Given the description of an element on the screen output the (x, y) to click on. 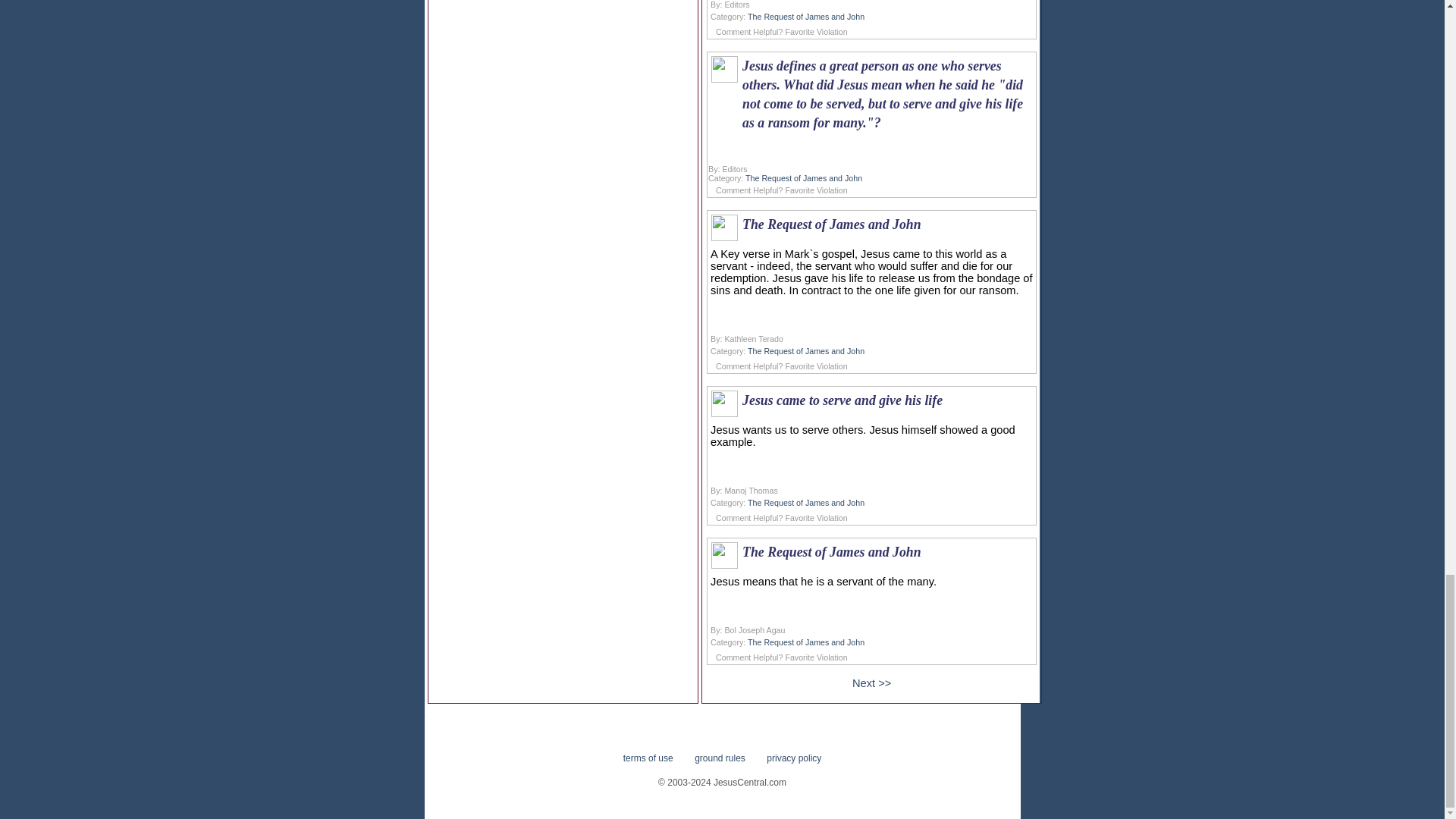
The Request of James and John (803, 177)
The Request of James and John (806, 642)
The Request of James and John (806, 501)
The Request of James and John (806, 16)
The Request of James and John (806, 350)
